Given the description of an element on the screen output the (x, y) to click on. 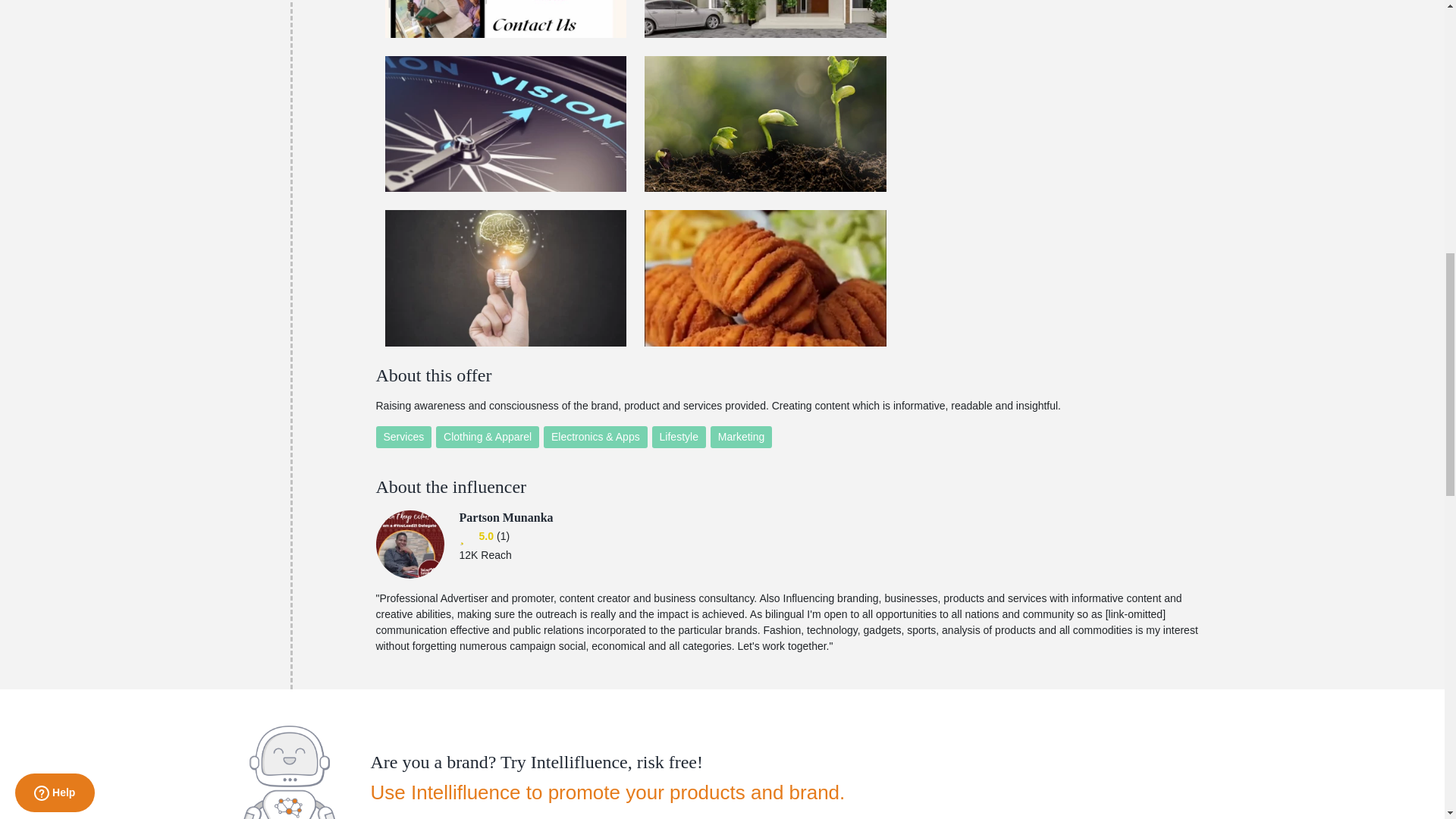
Services (403, 436)
Marketing (740, 436)
Lifestyle (679, 436)
Star rating out of 5 (486, 536)
